Given the description of an element on the screen output the (x, y) to click on. 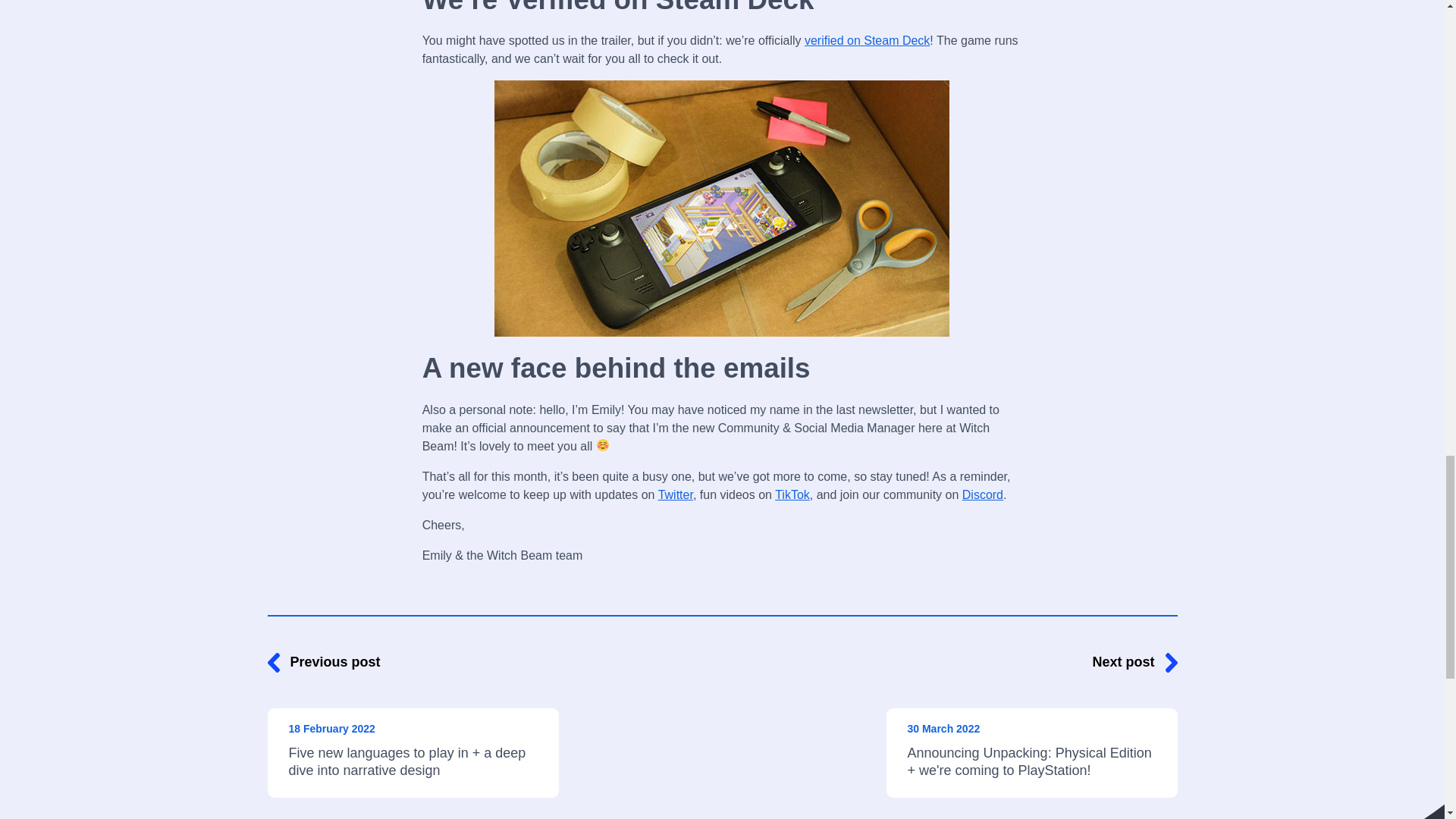
verified on Steam Deck (867, 40)
Previous post (411, 661)
Next post (1030, 661)
Discord (982, 494)
Twitter (675, 494)
18 February 2022 (331, 728)
TikTok (791, 494)
30 March 2022 (943, 728)
